Given the description of an element on the screen output the (x, y) to click on. 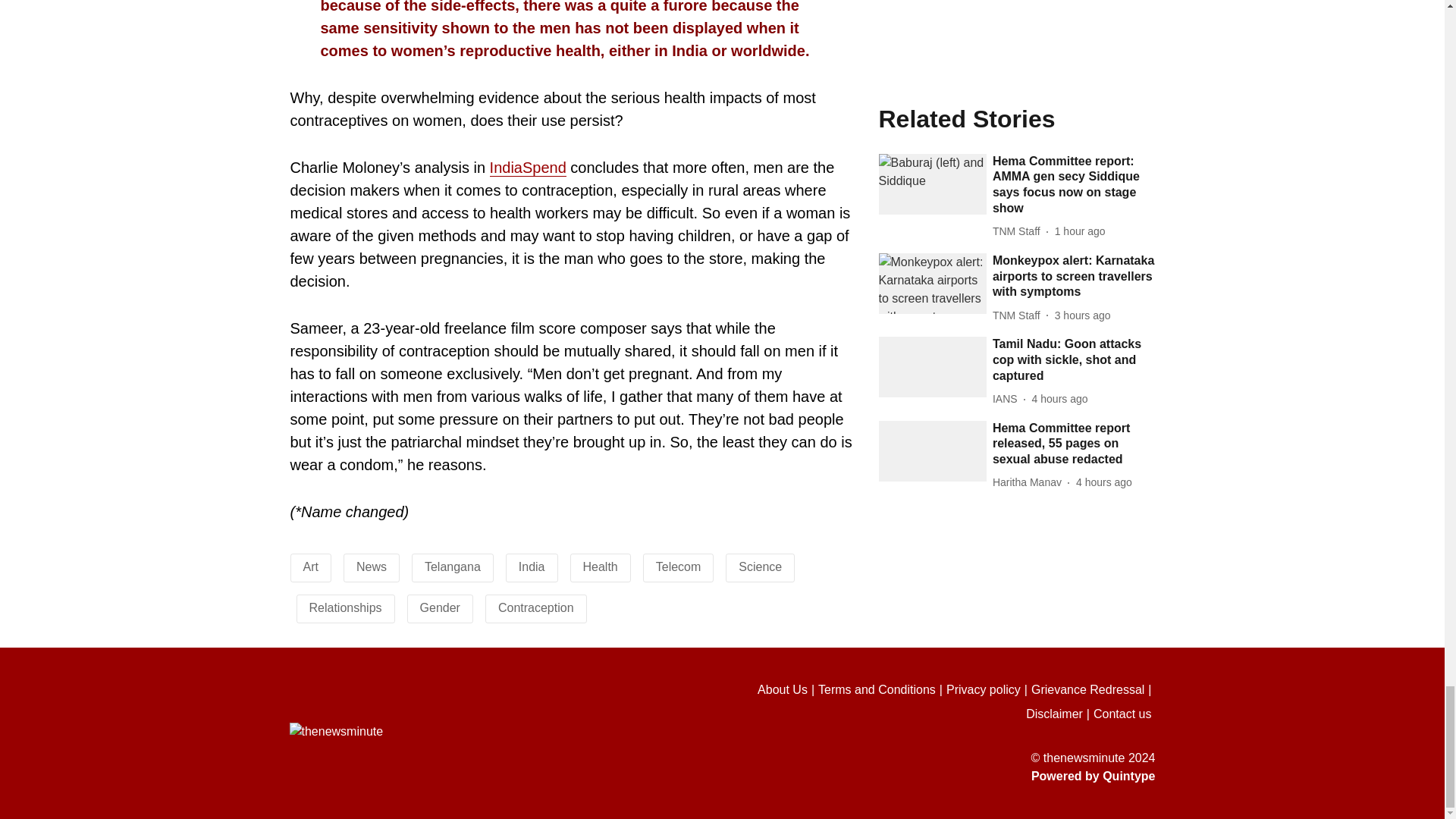
Health (600, 566)
Science (759, 566)
News (371, 566)
Relationships (344, 607)
Art (310, 566)
IndiaSpend (527, 167)
Telangana (452, 566)
Telecom (678, 566)
India (531, 566)
